Given the description of an element on the screen output the (x, y) to click on. 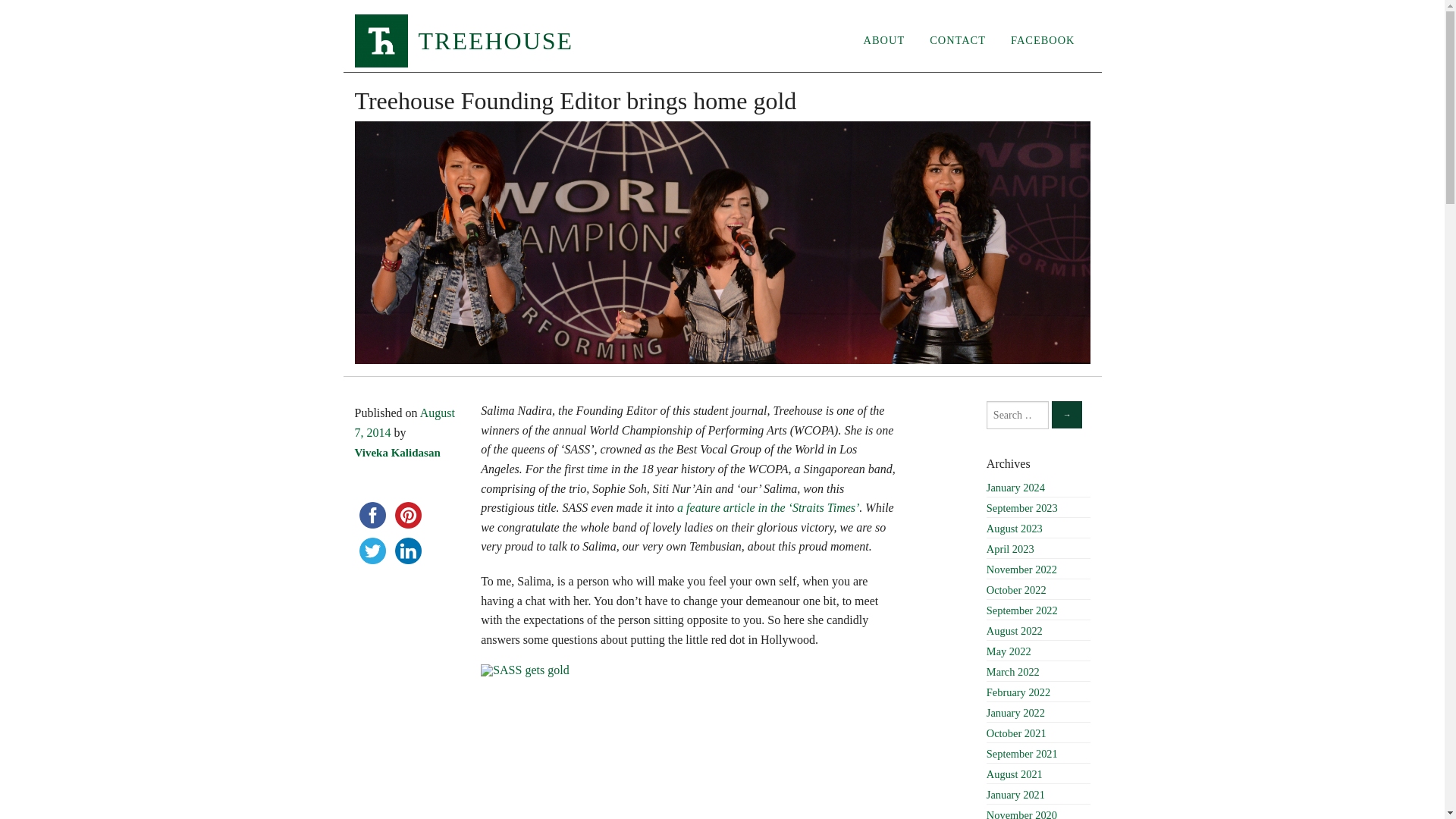
November 2020 (1038, 812)
March 2022 (1038, 671)
Viveka Kalidasan (398, 452)
August 2022 (1038, 630)
August 2023 (1038, 528)
twitter (372, 550)
September 2021 (1038, 753)
November 2022 (1038, 569)
April 2023 (1038, 548)
September 2023 (1038, 507)
TREEHOUSE (464, 39)
August 7, 2014 (404, 422)
Treehouse, A Tembusu Publication (381, 40)
January 2024 (1038, 487)
linkedin (407, 550)
